Given the description of an element on the screen output the (x, y) to click on. 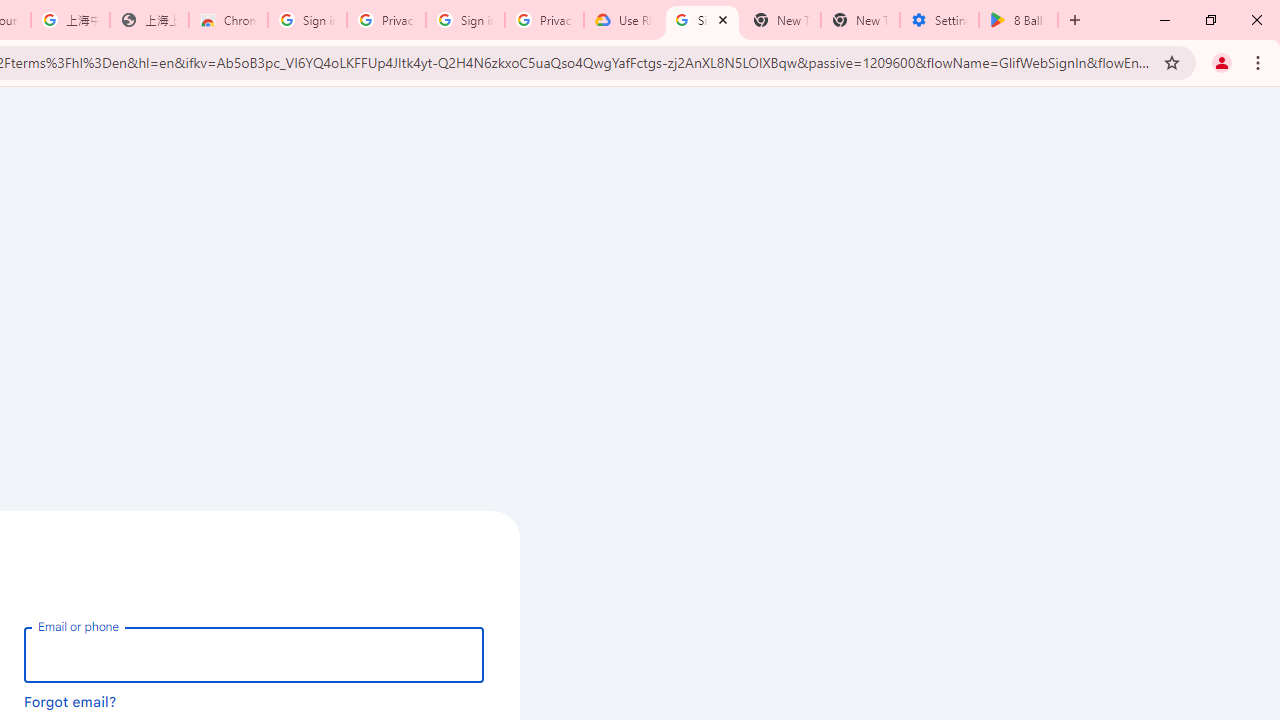
8 Ball Pool - Apps on Google Play (1018, 20)
New Tab (859, 20)
Settings - System (939, 20)
Chrome Web Store - Color themes by Chrome (228, 20)
Sign in - Google Accounts (702, 20)
Forgot email? (70, 701)
